Given the description of an element on the screen output the (x, y) to click on. 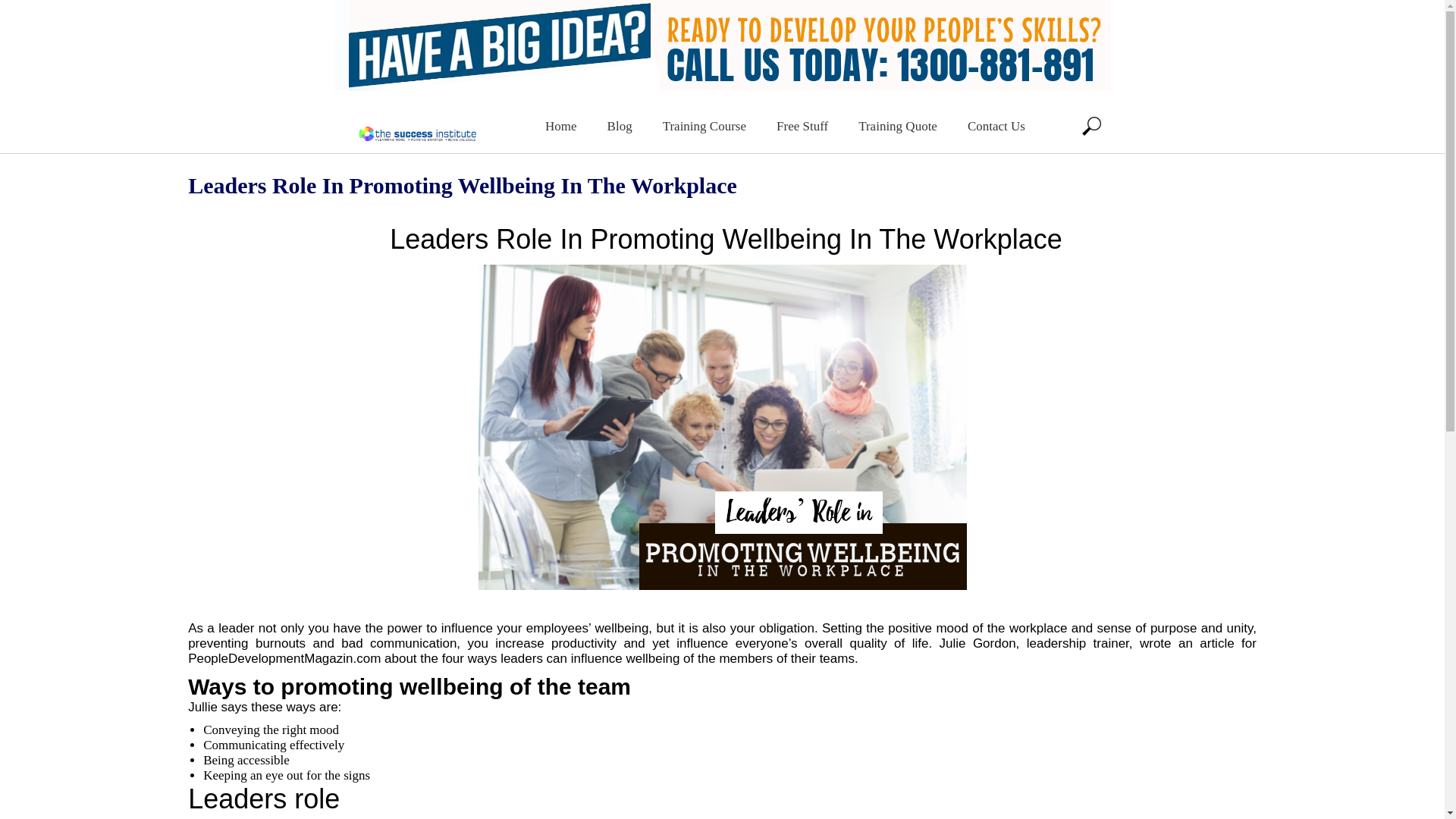
Contact Us (996, 124)
Training Quote (897, 124)
Free Stuff (802, 124)
Home (560, 124)
Blog (619, 124)
Training Course (704, 124)
The Success Institute Australia (417, 138)
